Given the description of an element on the screen output the (x, y) to click on. 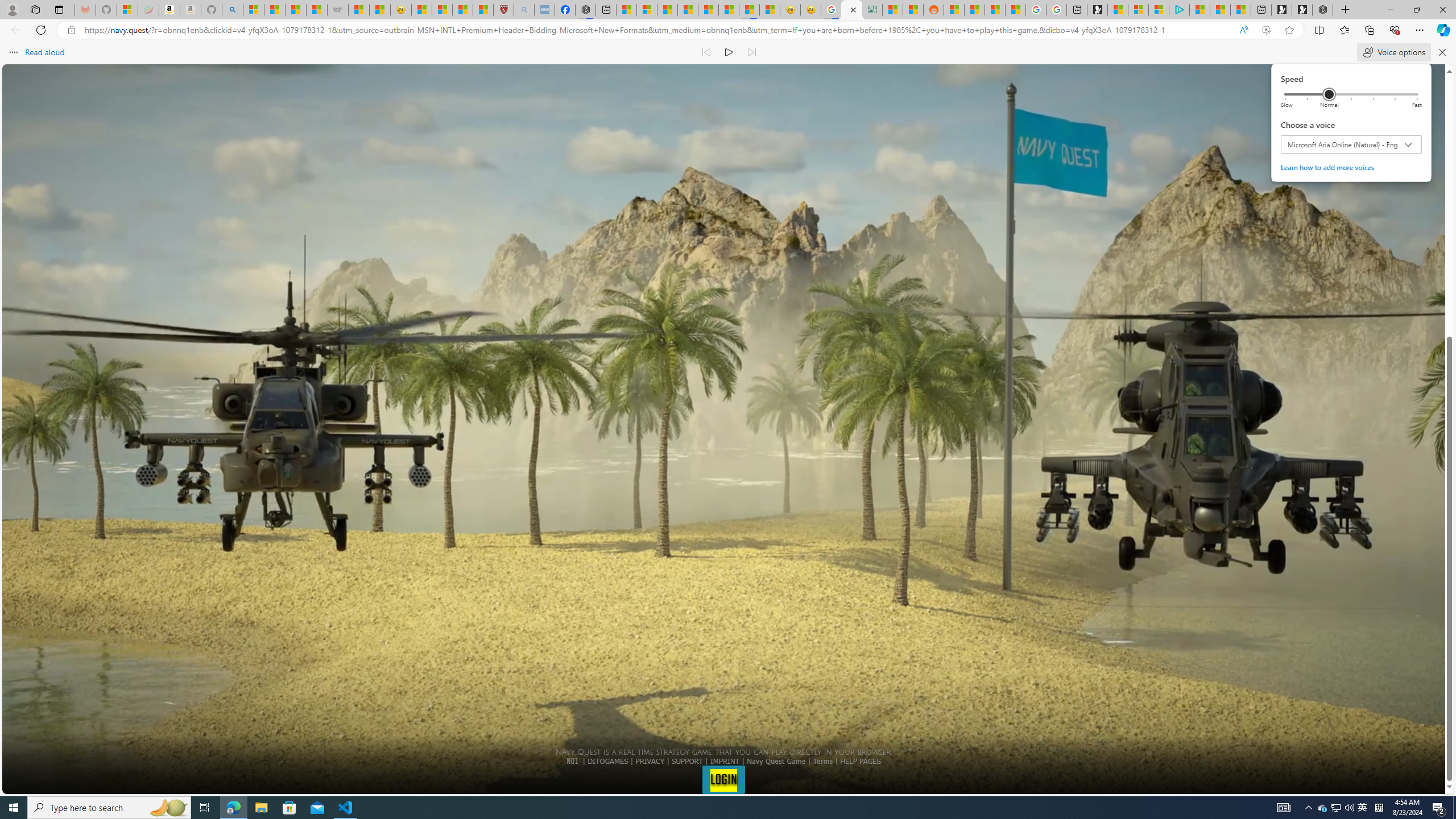
Tray Input Indicator - Chinese (Simplified, China) (1378, 807)
R******* | Trusted Community Engagement and Contributions (954, 9)
Read previous paragraph (705, 52)
Science - MSN (461, 9)
Terms (822, 760)
Microsoft account | Privacy (1158, 9)
SUPPORT (687, 760)
Show desktop (1454, 807)
Search highlights icon opens search home window (167, 807)
Microsoft Edge - 1 running window (233, 807)
